Given the description of an element on the screen output the (x, y) to click on. 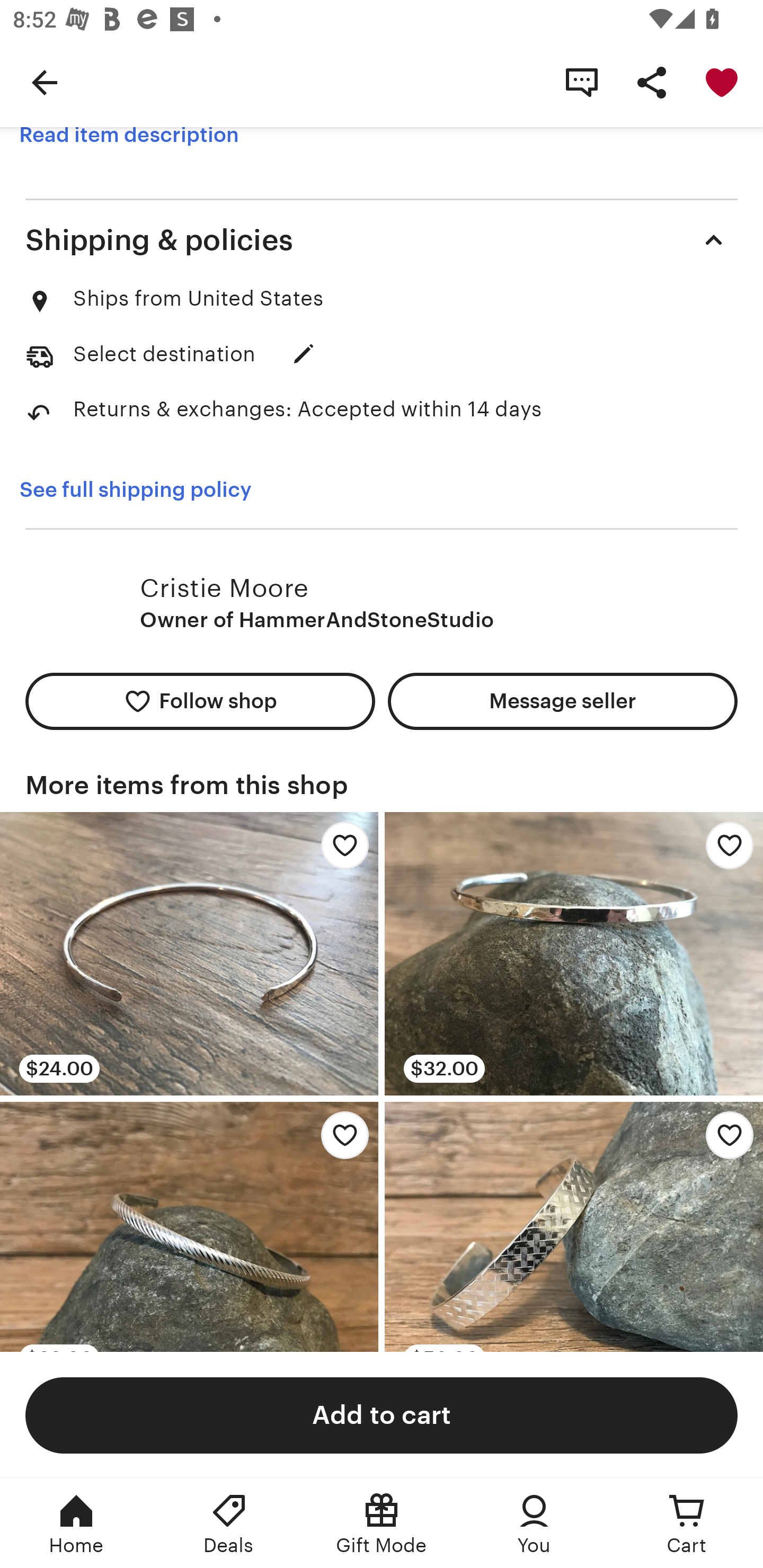
Navigate up (44, 81)
Contact shop (581, 81)
Share (651, 81)
Read item description (128, 134)
Shipping & policies (381, 239)
Update (302, 353)
See full shipping policy (135, 489)
Follow shop Follow HammerAndStoneStudio (200, 701)
Message seller (562, 701)
Add to cart (381, 1414)
Deals (228, 1523)
Gift Mode (381, 1523)
You (533, 1523)
Cart (686, 1523)
